Given the description of an element on the screen output the (x, y) to click on. 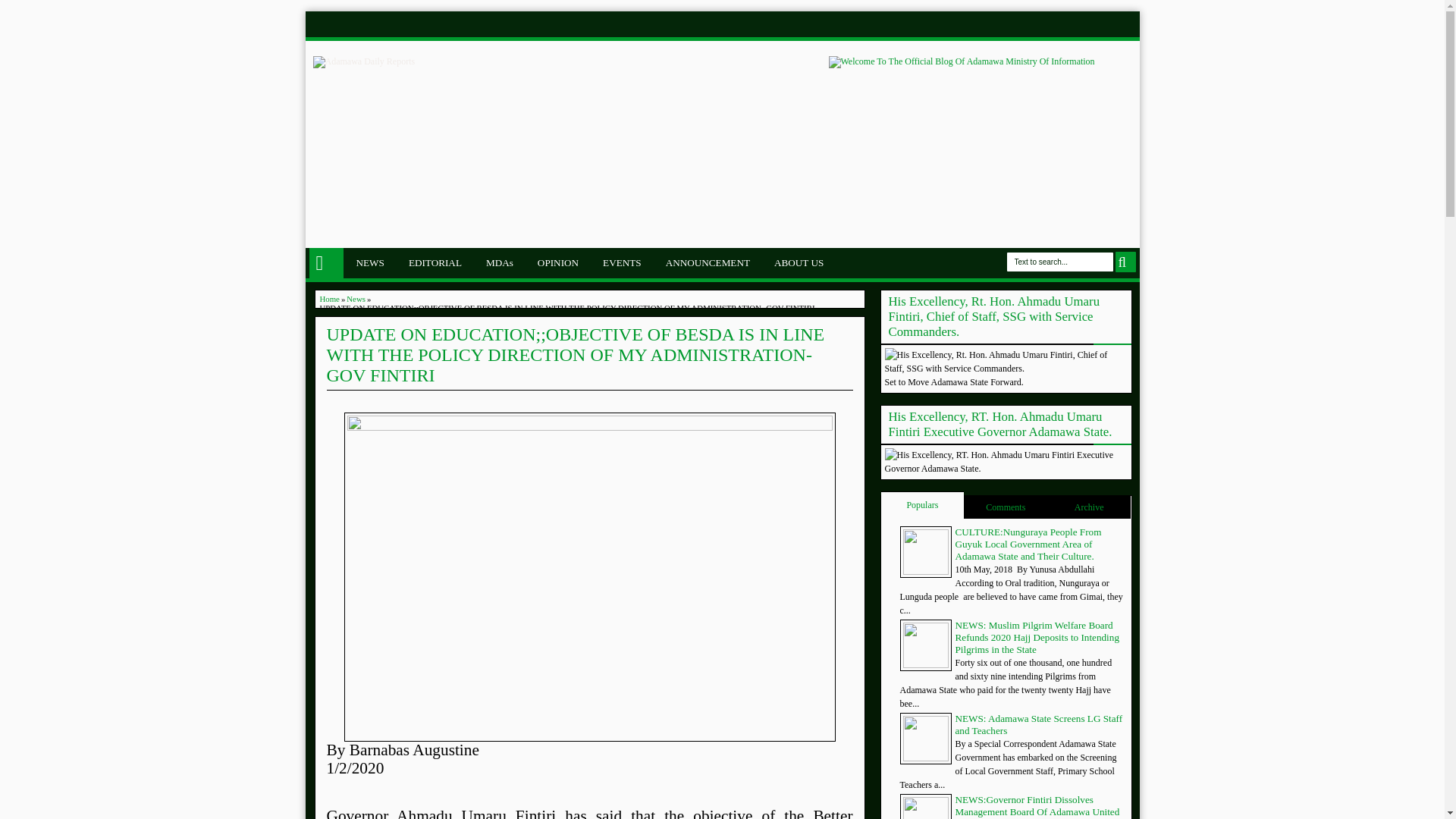
facebook (976, 24)
Pinterest (1061, 24)
Vimeo (1103, 24)
Dribble (1083, 24)
Text to search... (1060, 261)
Dribble (1083, 24)
HOME (325, 263)
Twitter (997, 24)
Search (1125, 261)
NEWS (368, 263)
Vimeo (1103, 24)
Linkedin (1039, 24)
RSS (1125, 24)
Pinterest (1061, 24)
Facebook (976, 24)
